Given the description of an element on the screen output the (x, y) to click on. 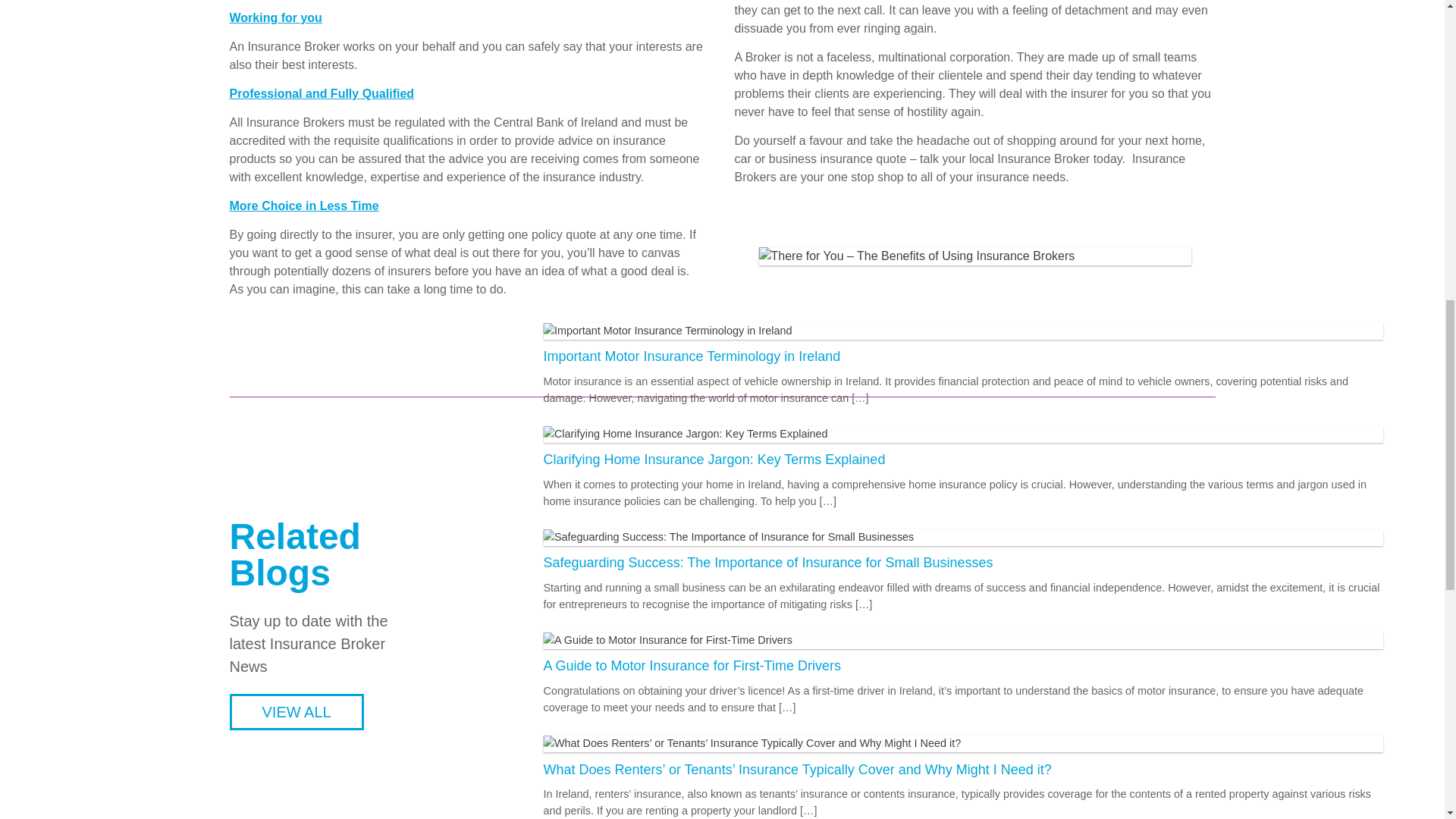
VIEW ALL (295, 711)
View all (295, 711)
